Given the description of an element on the screen output the (x, y) to click on. 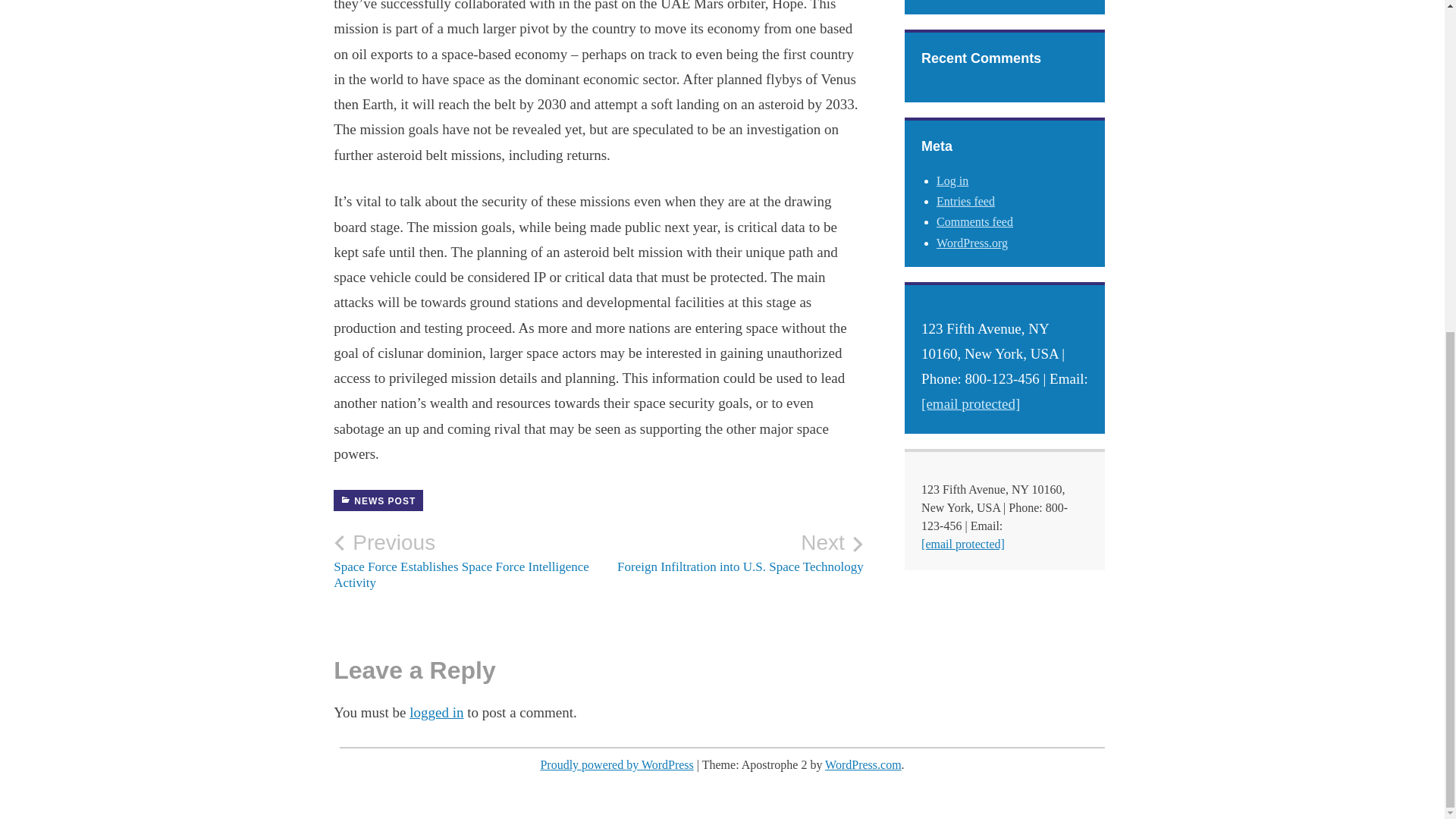
Entries feed (965, 201)
NEWS POST (378, 500)
logged in (436, 712)
Log in (952, 180)
Comments feed (974, 221)
WordPress.org (971, 242)
Proudly powered by WordPress (616, 764)
WordPress.com (730, 552)
